Given the description of an element on the screen output the (x, y) to click on. 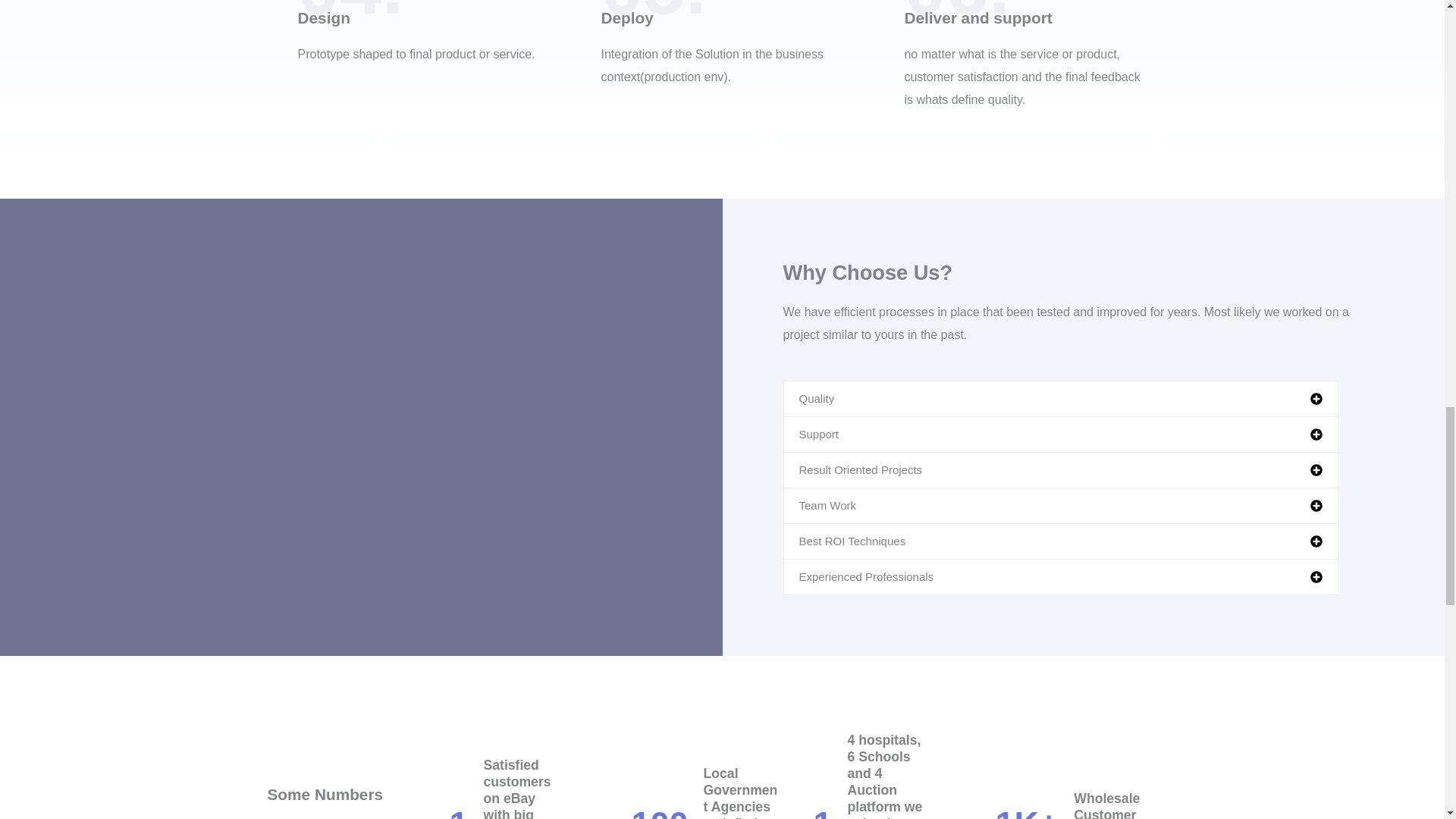
Team Work (828, 504)
Best ROI Techniques (852, 540)
Experienced Professionals (866, 576)
Quality (816, 398)
Support (819, 433)
Result Oriented Projects (861, 469)
